Given the description of an element on the screen output the (x, y) to click on. 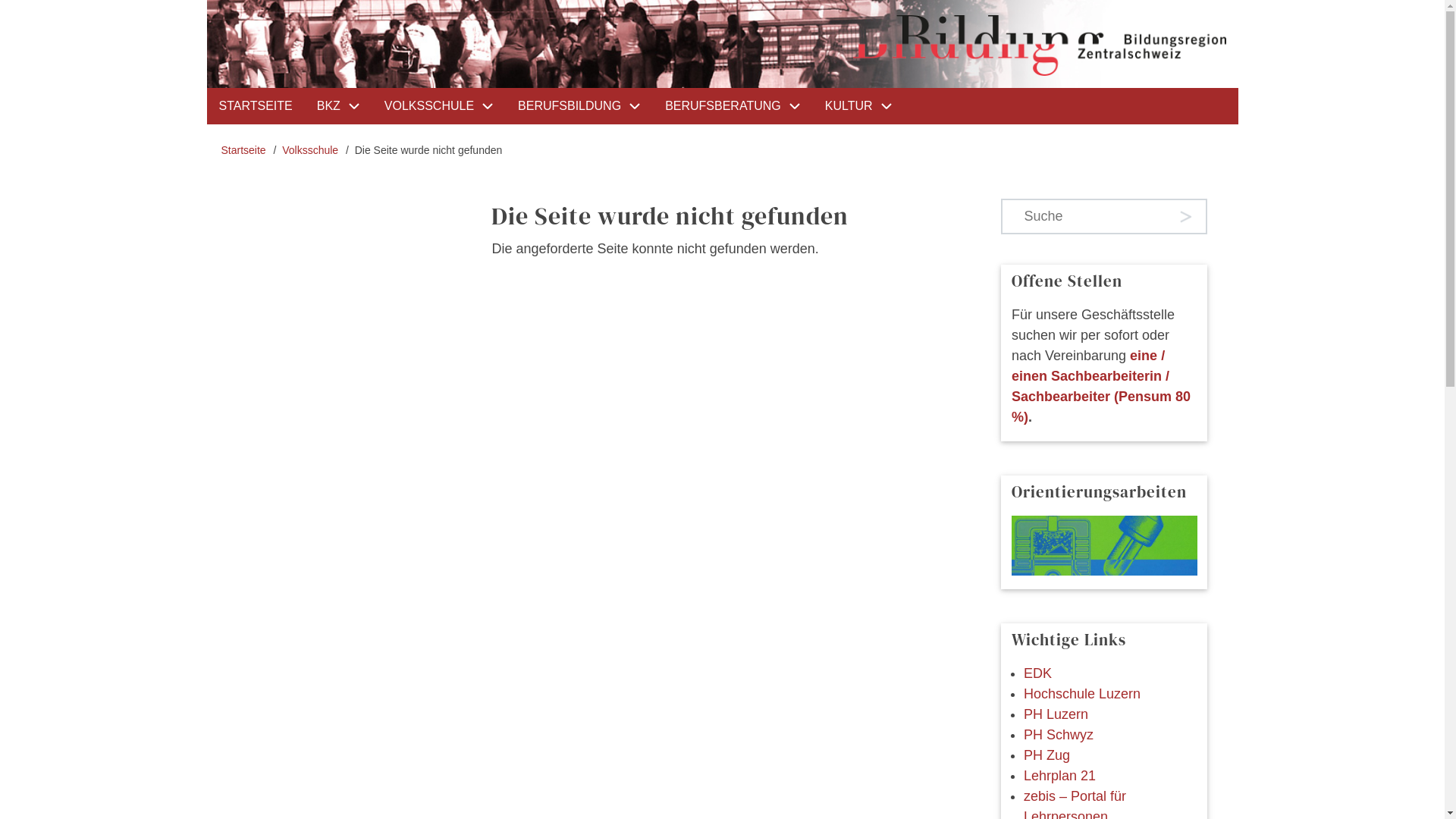
PH Luzern Element type: text (1055, 714)
Startseite Element type: hover (1038, 45)
Die Begriffe eingeben, nach denen gesucht werden soll. Element type: hover (1083, 216)
EDK Element type: text (1037, 673)
KULTUR Element type: text (858, 105)
BERUFSBERATUNG Element type: text (732, 105)
Volksschule Element type: text (310, 150)
PH Zug Element type: text (1046, 755)
. Element type: text (1186, 216)
Hochschule Luzern Element type: text (1081, 694)
BKZ Element type: text (338, 105)
Lehrplan 21 Element type: text (1059, 776)
Startseite Element type: text (243, 150)
BERUFSBILDUNG Element type: text (578, 105)
eine / einen Sachbearbeiterin / Sachbearbeiter (Pensum 80 %) Element type: text (1100, 387)
Direkt zum Inhalt Element type: text (0, 0)
PH Schwyz Element type: text (1058, 735)
STARTSEITE Element type: text (255, 105)
VOLKSSCHULE Element type: text (438, 105)
